Given the description of an element on the screen output the (x, y) to click on. 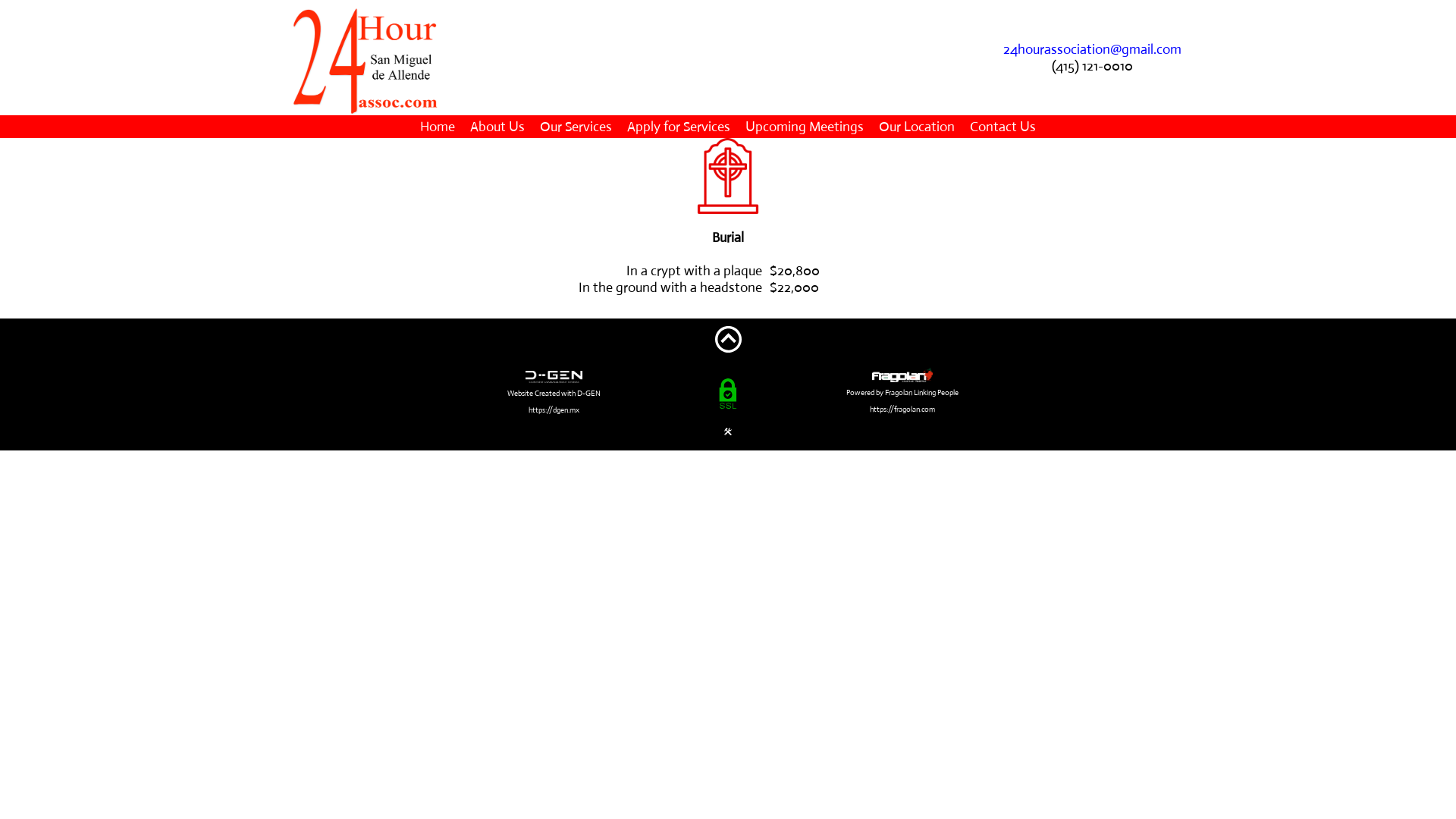
24hourassociation@gmail.com Element type: text (1091, 48)
